Given the description of an element on the screen output the (x, y) to click on. 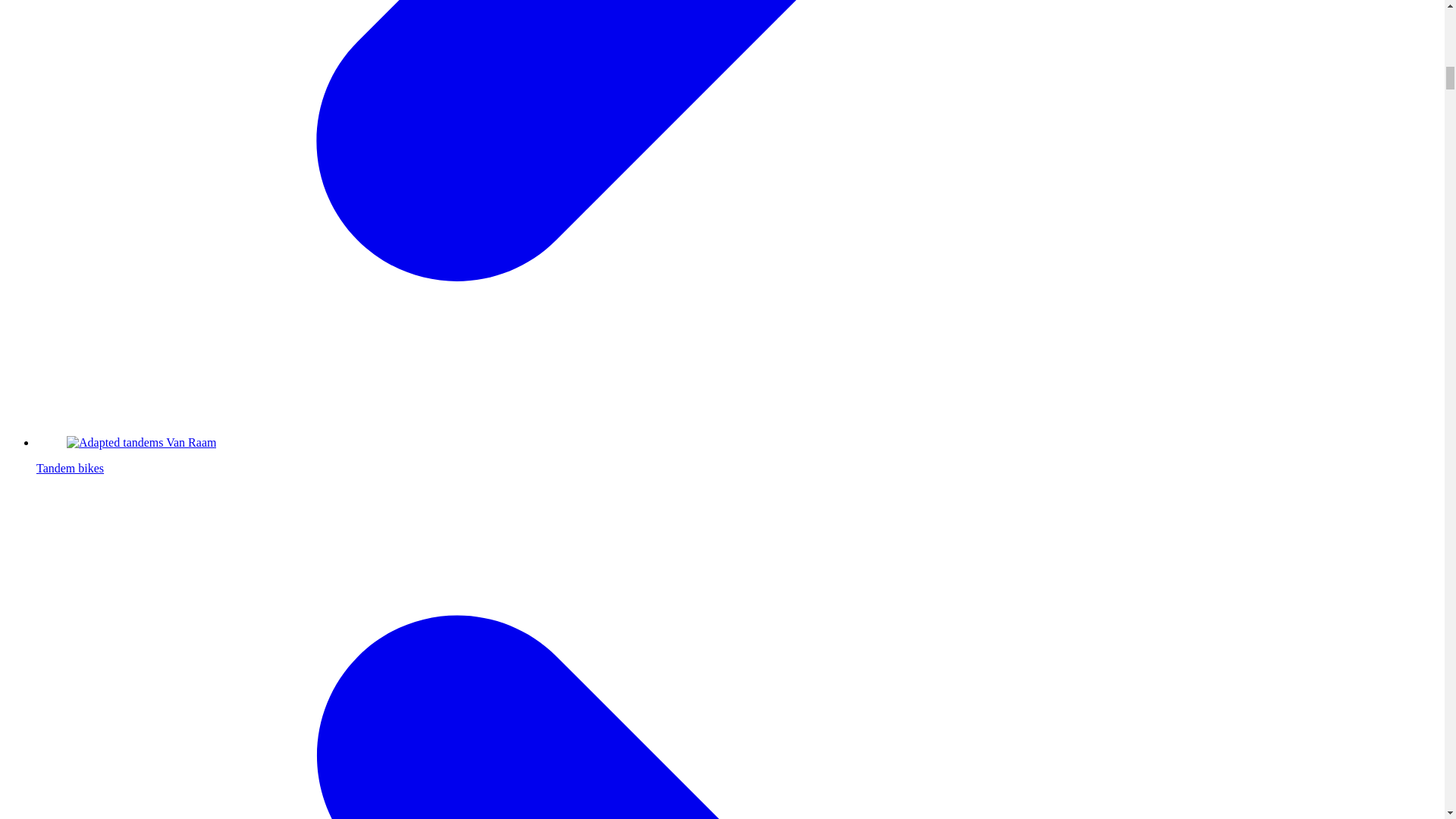
Adapted tandems Van Raam (140, 442)
